Given the description of an element on the screen output the (x, y) to click on. 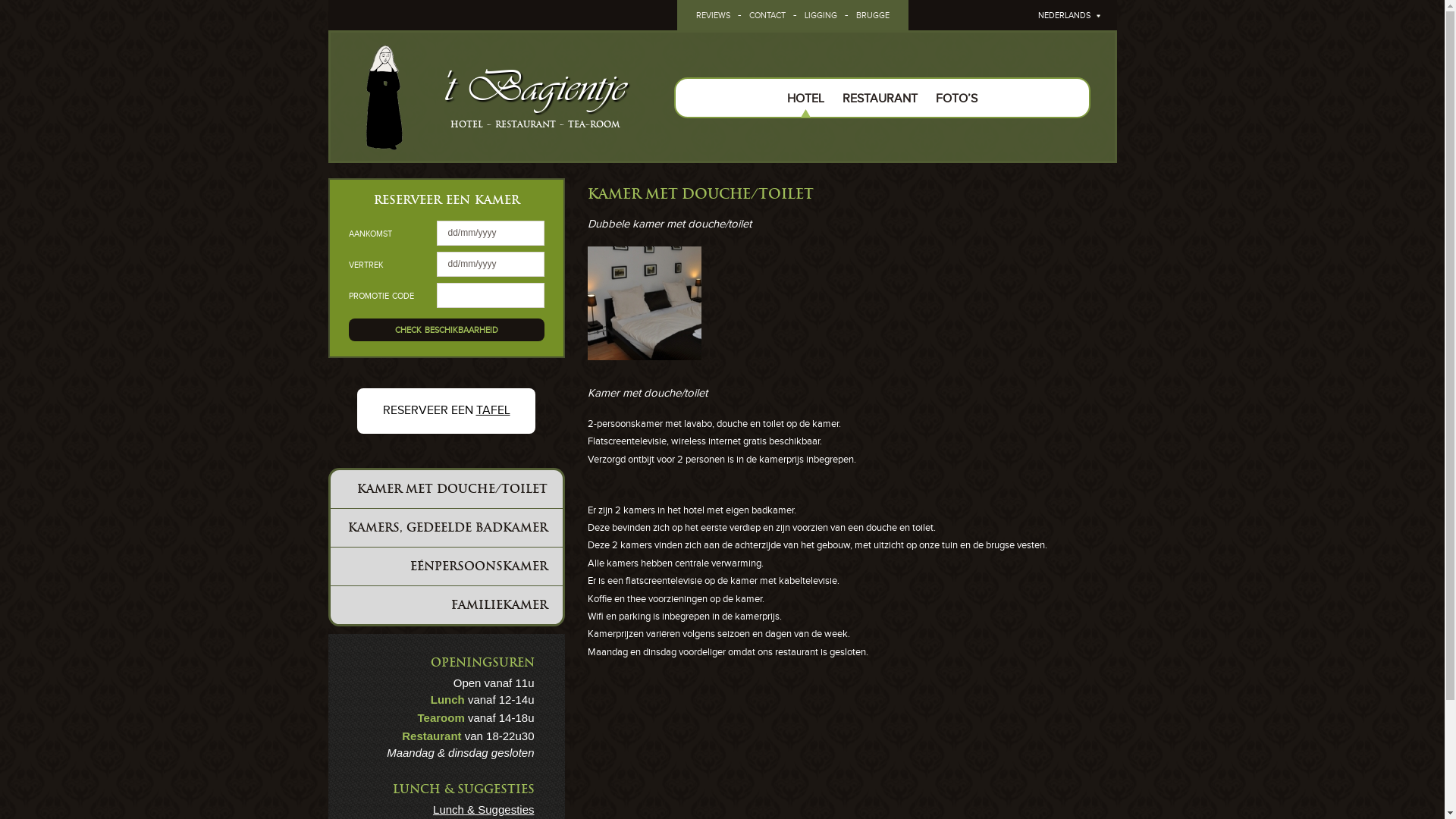
HOTEL Element type: text (805, 98)
Check beschikbaarheid Element type: text (446, 329)
FAMILIEKAMER Element type: text (446, 605)
RESTAURANT Element type: text (878, 98)
Lunch & Suggesties Element type: text (483, 809)
reviews Element type: text (713, 14)
KAMERS, GEDEELDE BADKAMER Element type: text (446, 527)
't Bagientje Element type: text (531, 86)
ligging Element type: text (819, 14)
KAMER MET DOUCHE/TOILET Element type: text (446, 489)
RESERVEER EEN TAFEL Element type: text (446, 410)
contact Element type: text (767, 14)
brugge Element type: text (871, 14)
